Given the description of an element on the screen output the (x, y) to click on. 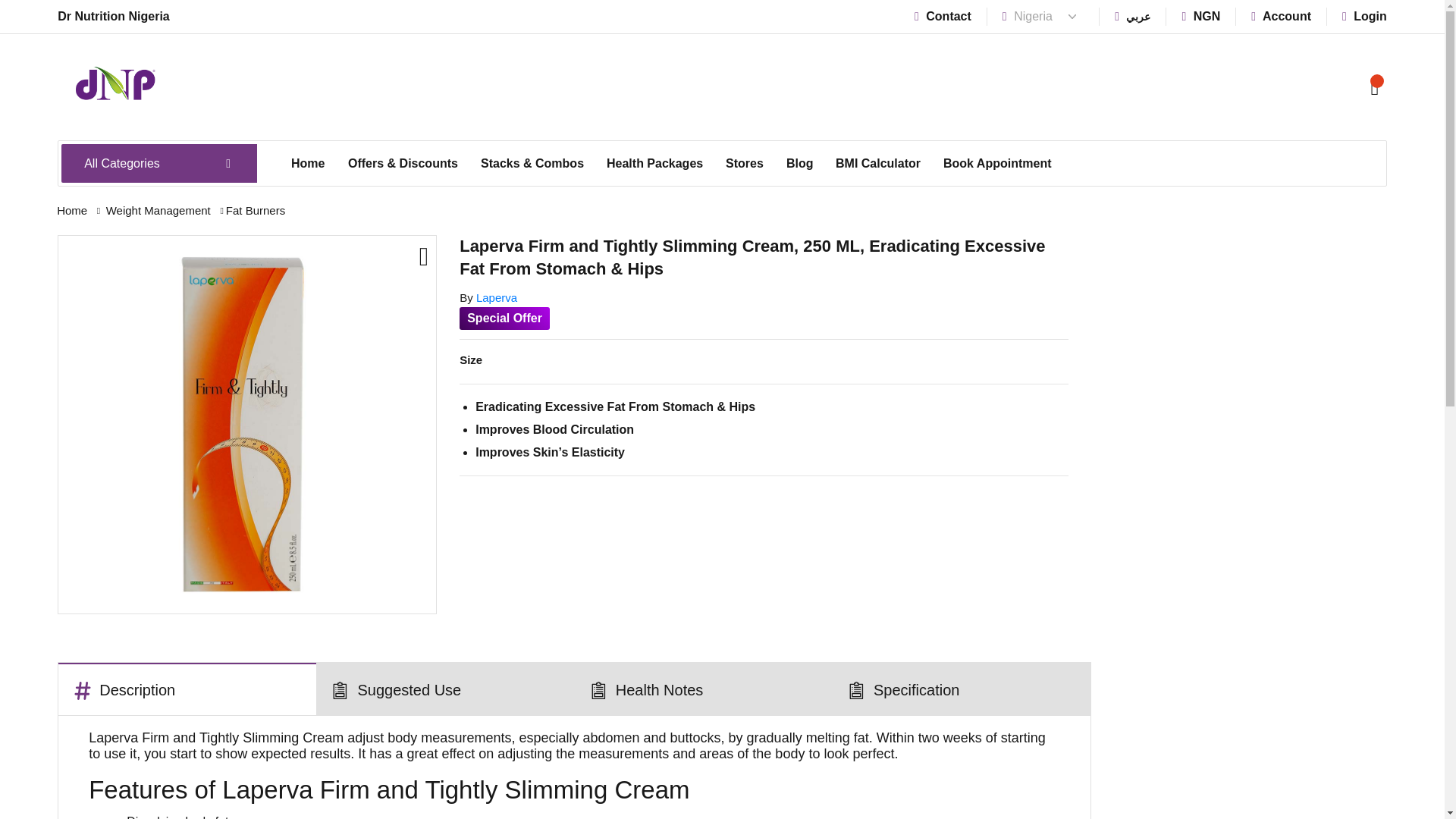
Account (1280, 16)
Home (307, 163)
Blog (799, 163)
Stores (744, 163)
NGN (1200, 16)
Login (1364, 16)
Contact (942, 16)
NGN (1200, 16)
Account (1280, 16)
Contact (942, 16)
